Given the description of an element on the screen output the (x, y) to click on. 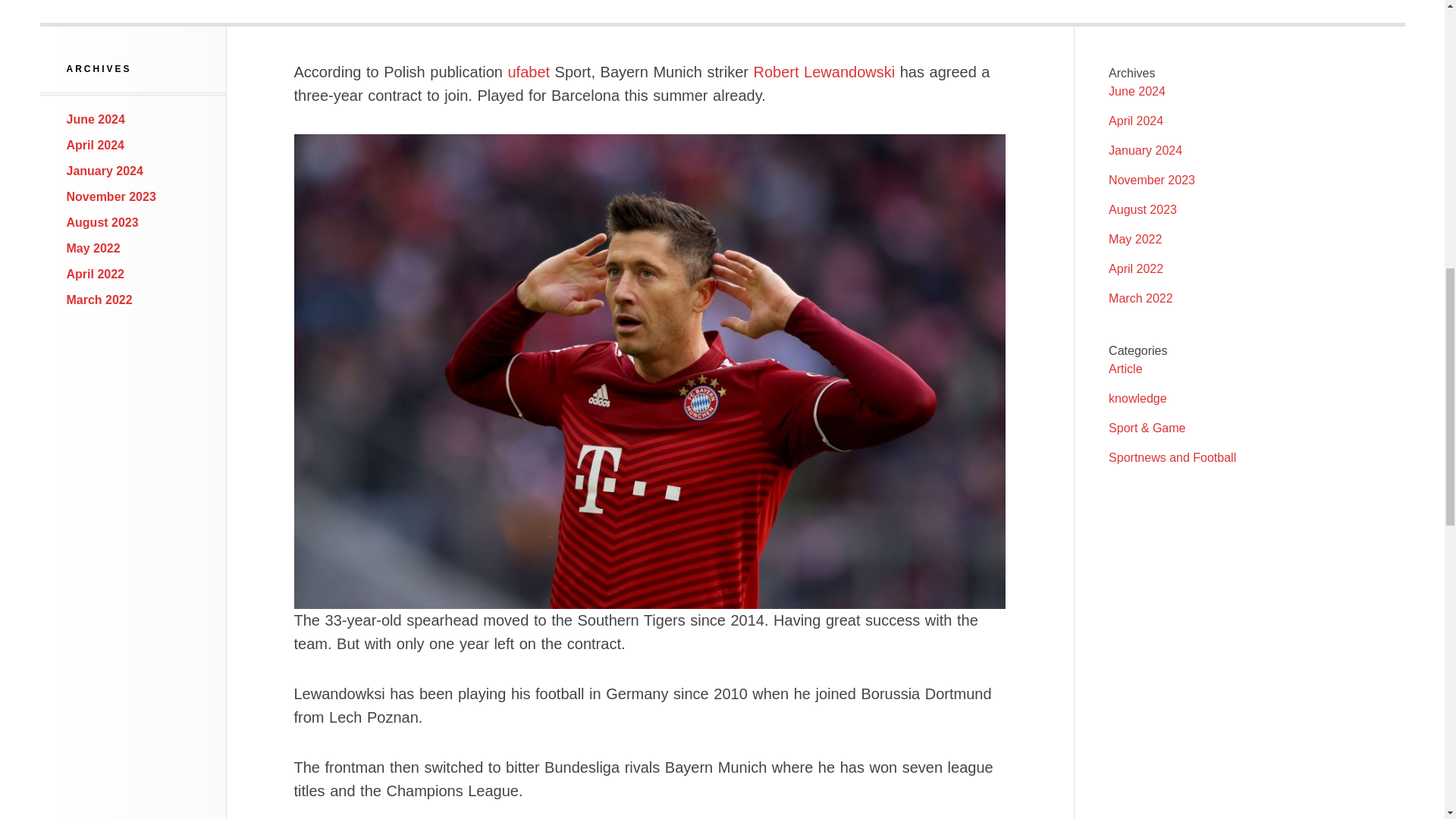
April 2022 (1135, 268)
August 2023 (102, 222)
June 2024 (95, 119)
Robert Lewandowski (824, 71)
January 2024 (104, 170)
August 2023 (1142, 209)
November 2023 (1151, 179)
April 2022 (94, 273)
June 2024 (1137, 91)
April 2024 (94, 144)
